Given the description of an element on the screen output the (x, y) to click on. 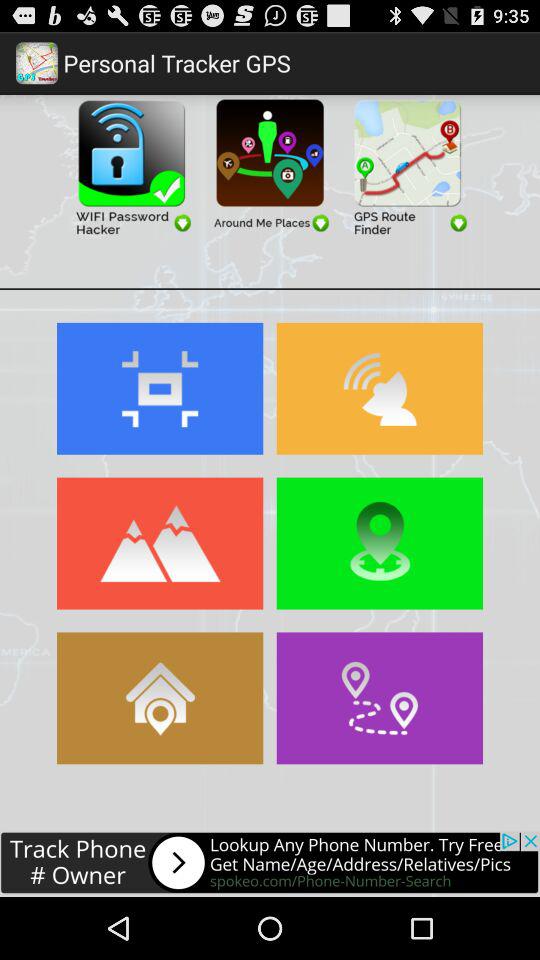
direction the article (379, 698)
